Given the description of an element on the screen output the (x, y) to click on. 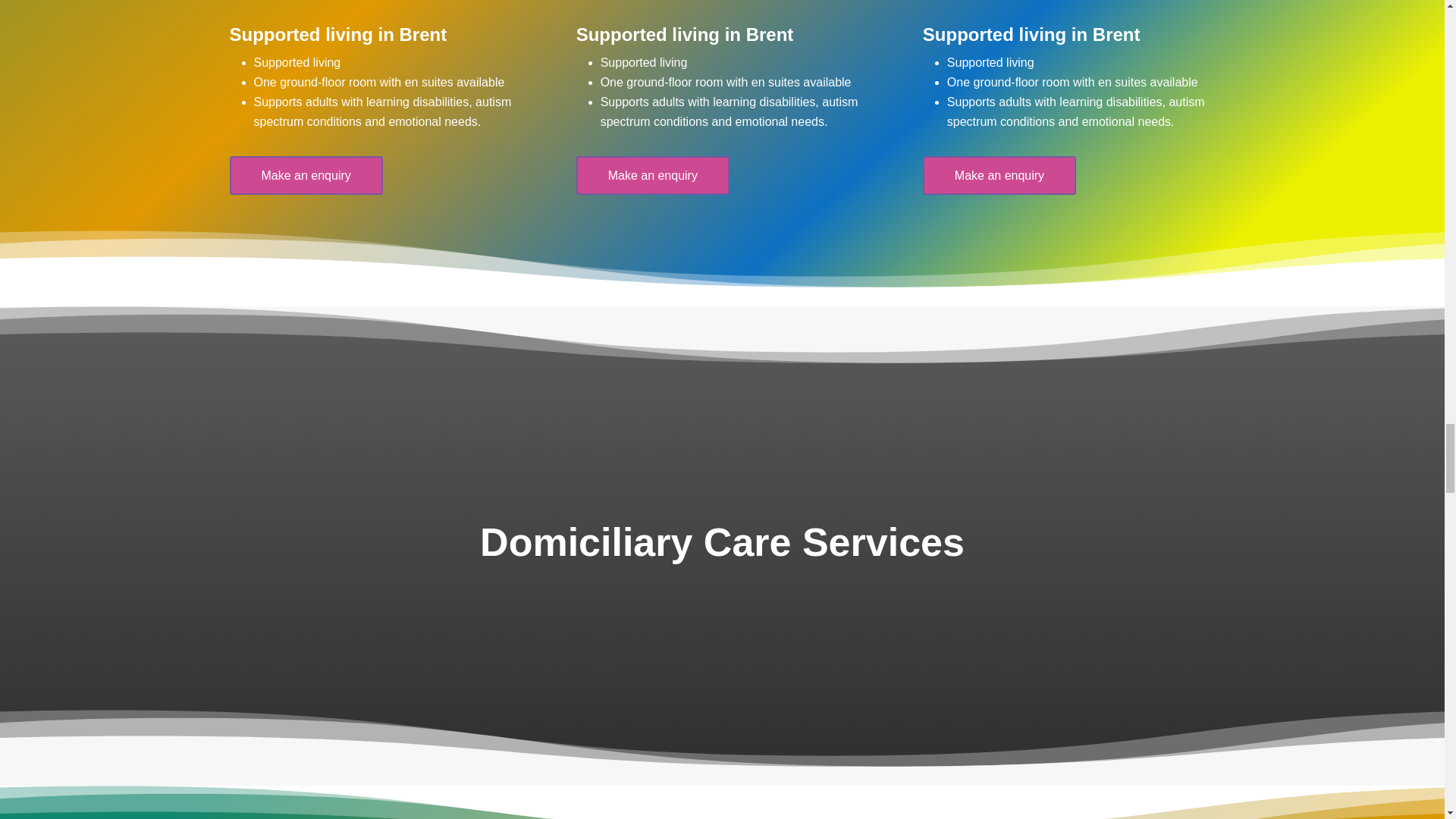
Make an enquiry (999, 175)
Make an enquiry (304, 175)
Make an enquiry (652, 175)
